Given the description of an element on the screen output the (x, y) to click on. 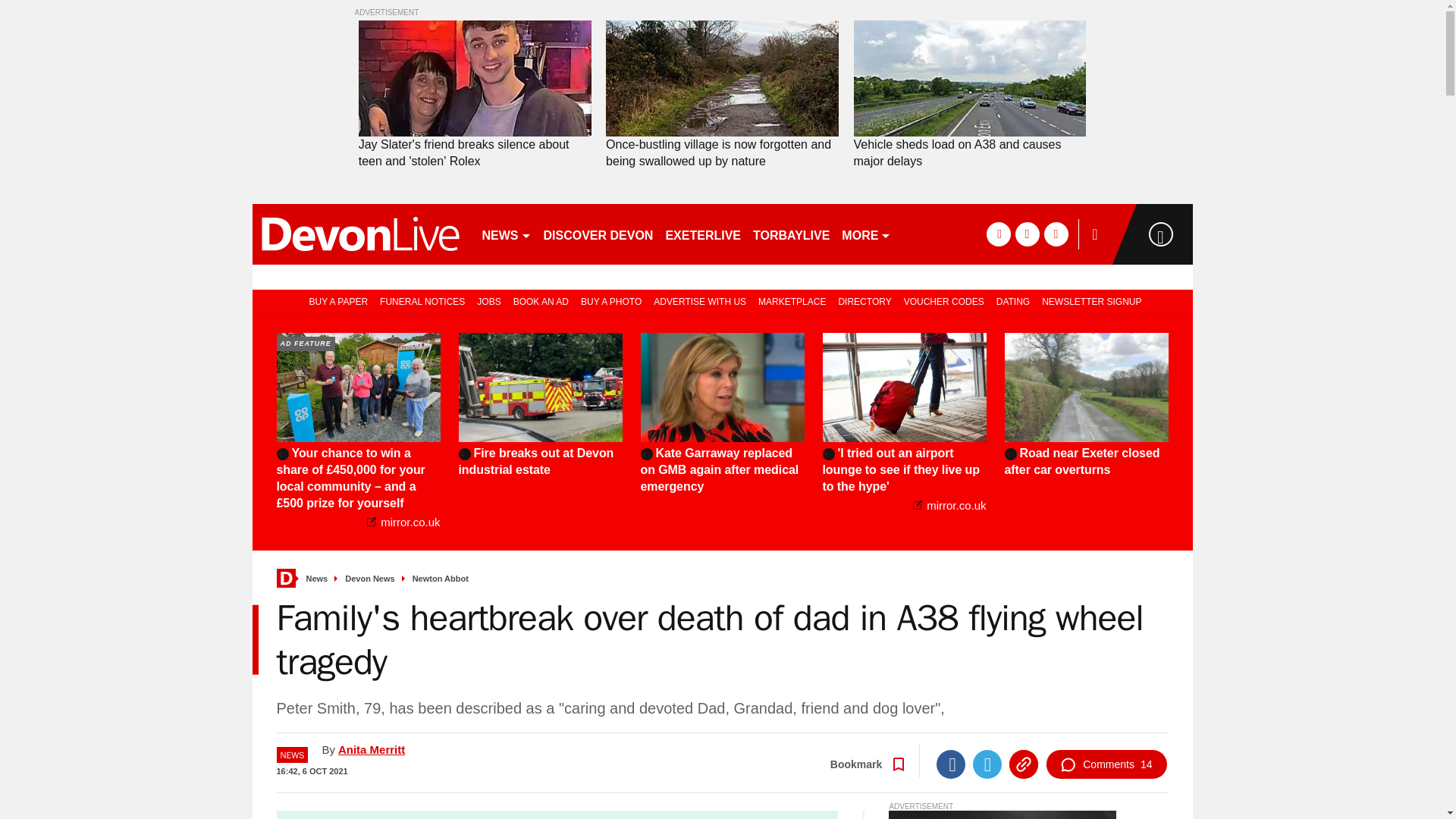
Twitter (986, 764)
facebook (997, 233)
EXETERLIVE (702, 233)
DISCOVER DEVON (598, 233)
devonlive (359, 233)
instagram (1055, 233)
TORBAYLIVE (790, 233)
NEWS (506, 233)
Facebook (950, 764)
Vehicle sheds load on A38 and causes major delays (969, 152)
